Given the description of an element on the screen output the (x, y) to click on. 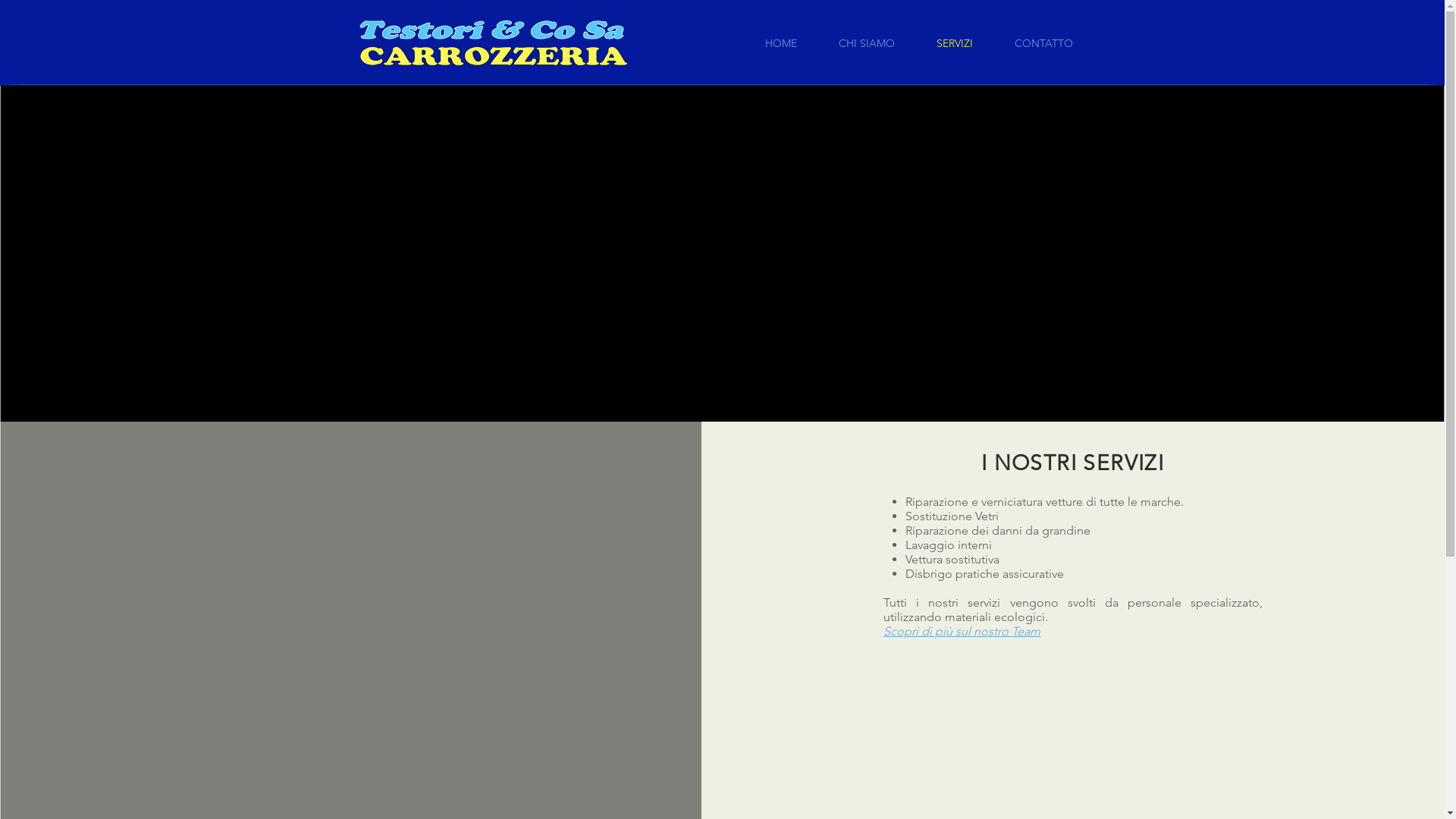
HOME Element type: text (781, 43)
CONTATTO Element type: text (1042, 43)
CHI SIAMO Element type: text (866, 43)
SERVIZI Element type: text (955, 43)
